Given the description of an element on the screen output the (x, y) to click on. 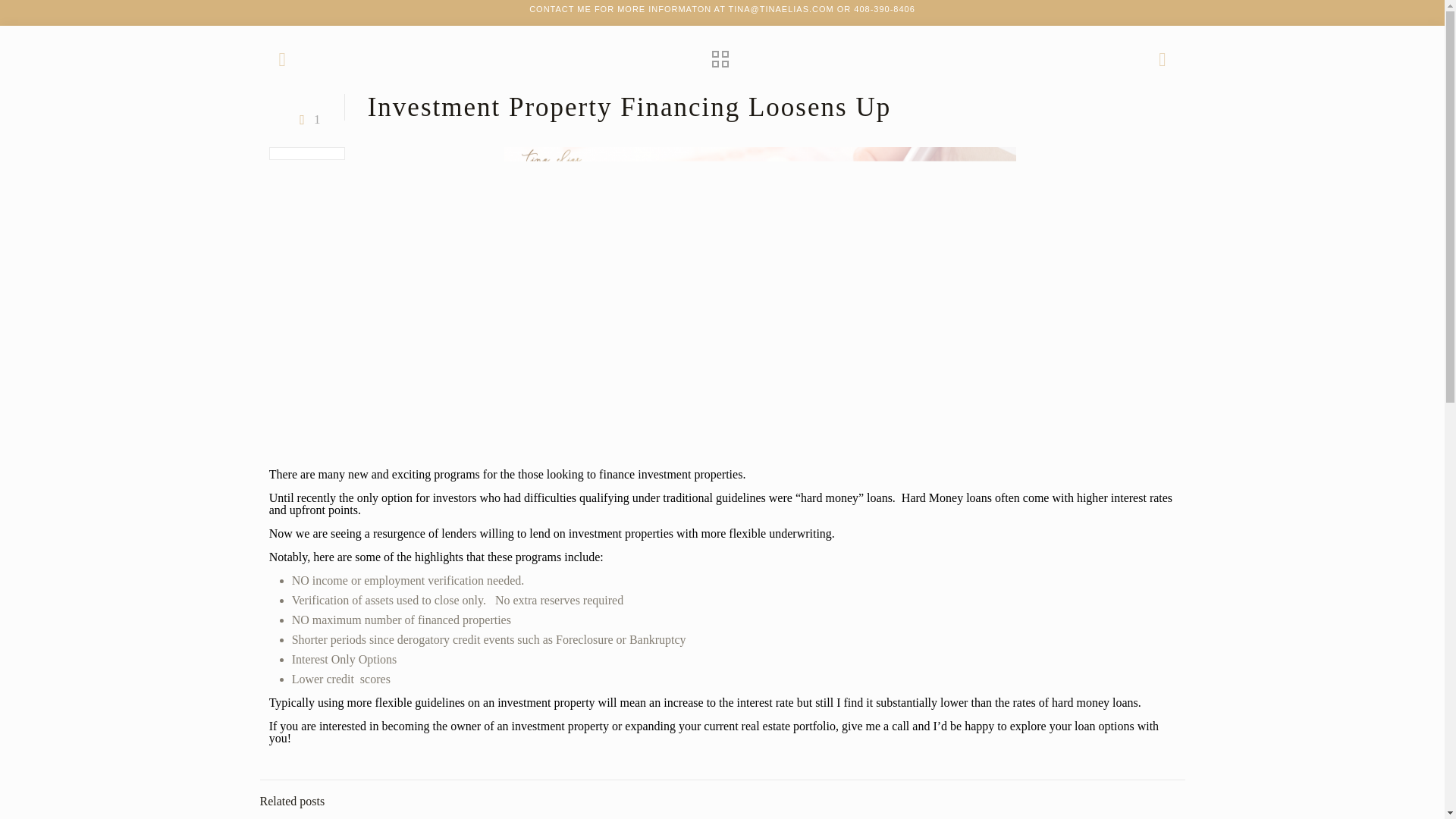
408-390-8406 (884, 8)
1 (306, 119)
